Given the description of an element on the screen output the (x, y) to click on. 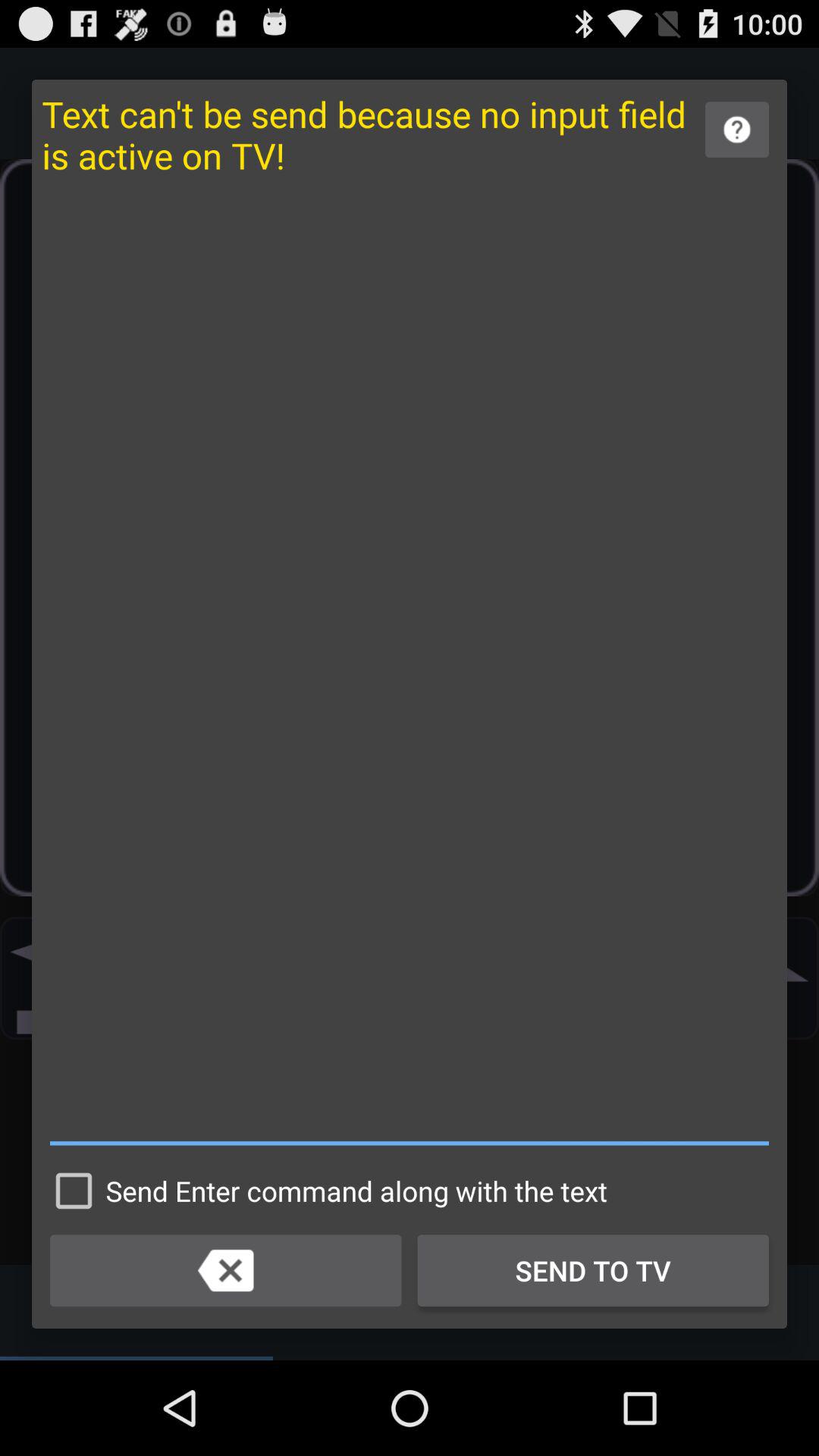
tap the send enter command item (324, 1190)
